Given the description of an element on the screen output the (x, y) to click on. 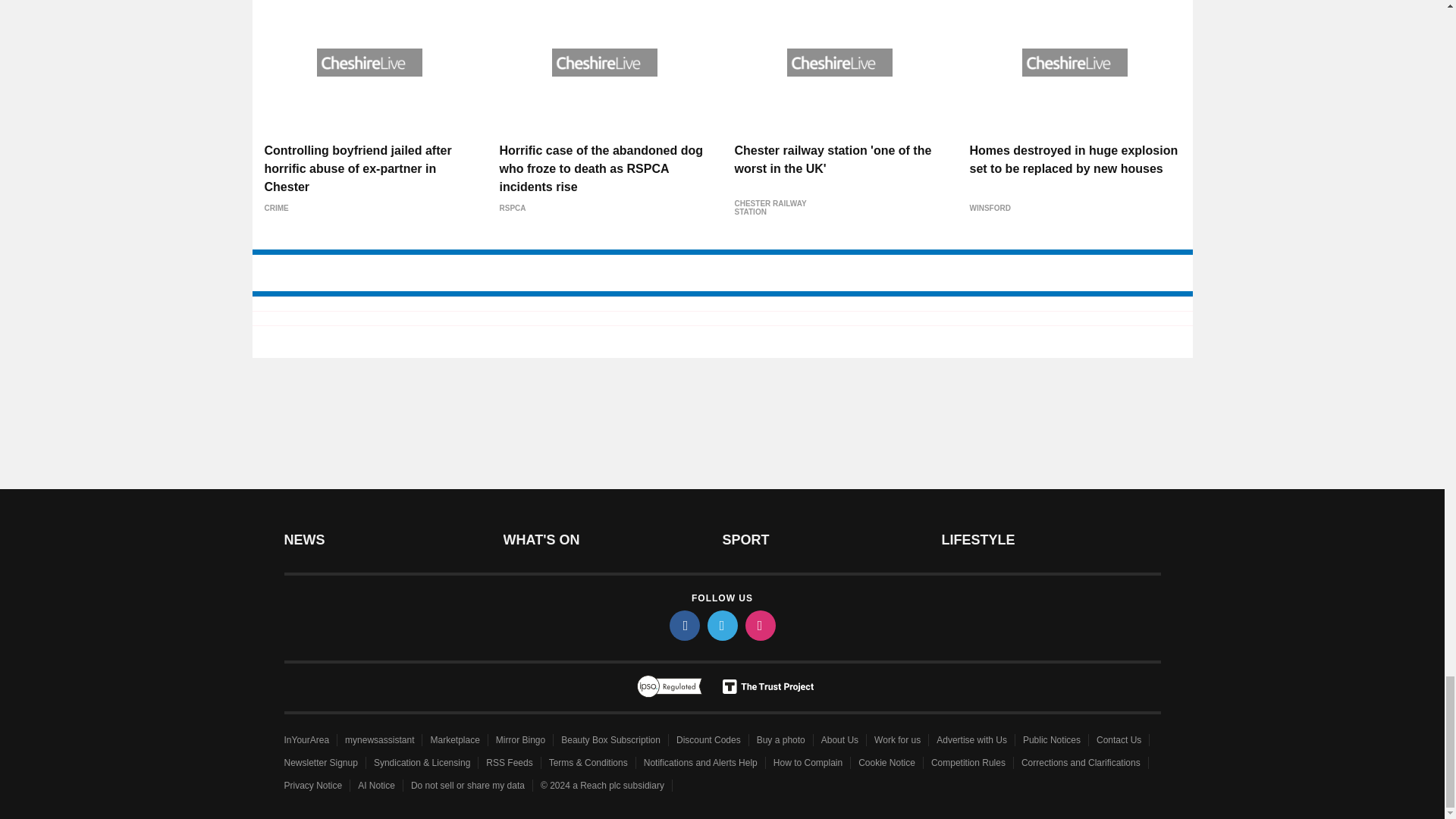
twitter (721, 625)
facebook (683, 625)
